Given the description of an element on the screen output the (x, y) to click on. 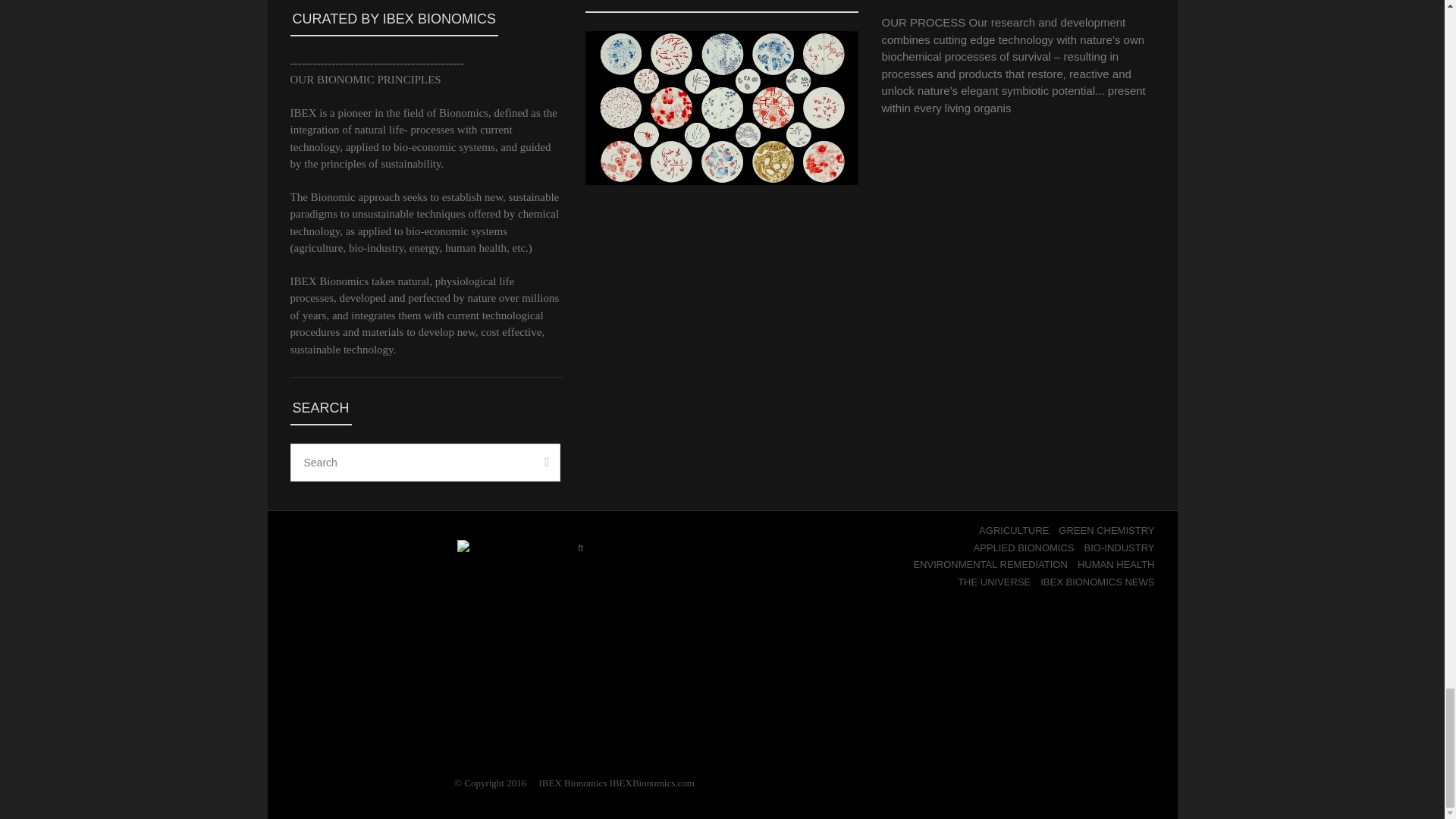
Search (424, 462)
